Given the description of an element on the screen output the (x, y) to click on. 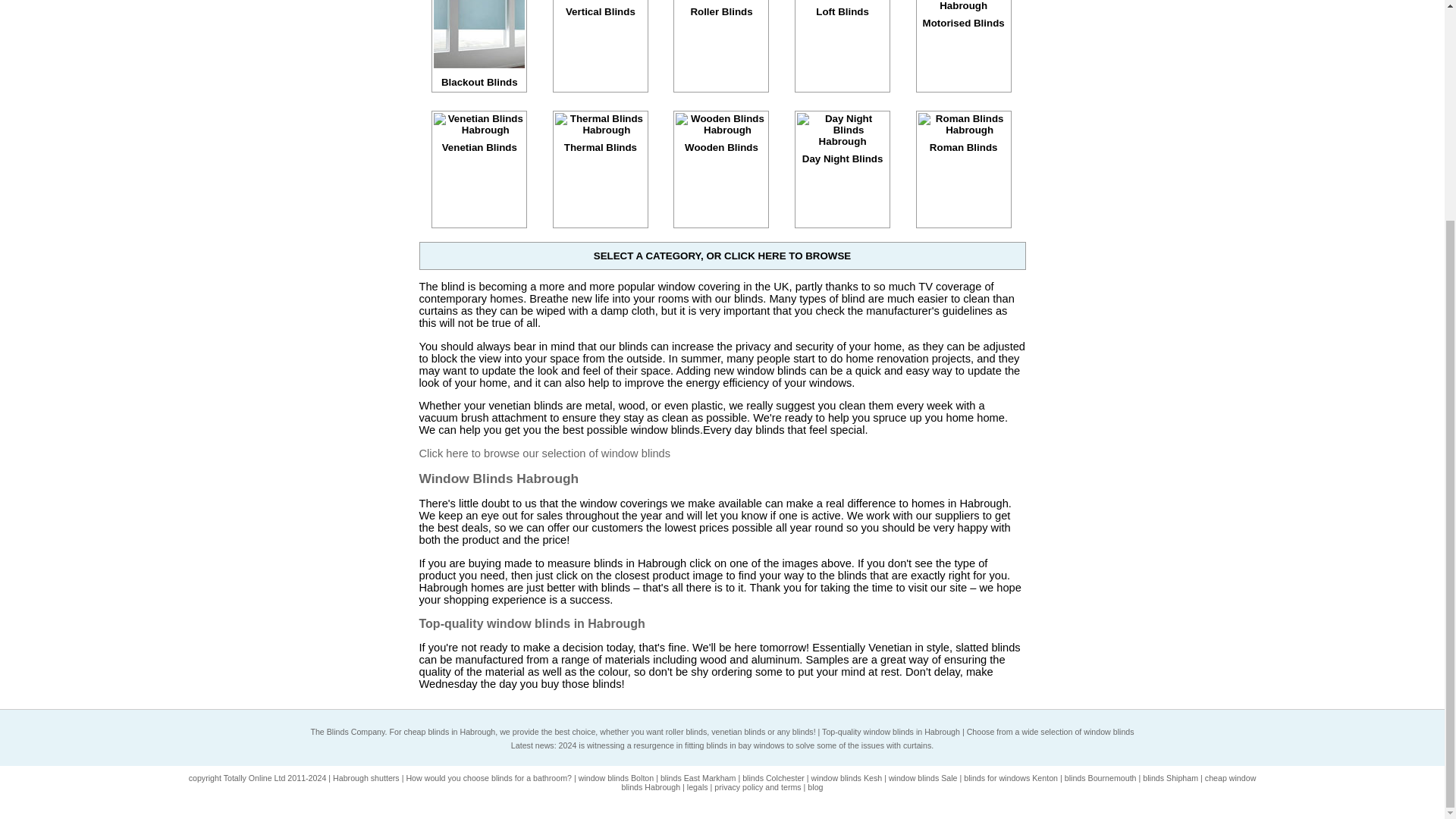
Thermal Blinds (600, 138)
window blinds Sale (923, 777)
Loft Blinds (842, 8)
Roman Blinds (963, 138)
window blinds Kesh (846, 777)
Motorised Blinds (963, 14)
privacy policy and terms (757, 786)
Totally Online Ltd (254, 777)
Habrough shutters (365, 777)
Wooden Blinds (721, 138)
Vertical Blinds (600, 8)
blinds East Markham (698, 777)
blinds Shipham (1170, 777)
window blinds Bolton (615, 777)
Roller Blinds (721, 8)
